Given the description of an element on the screen output the (x, y) to click on. 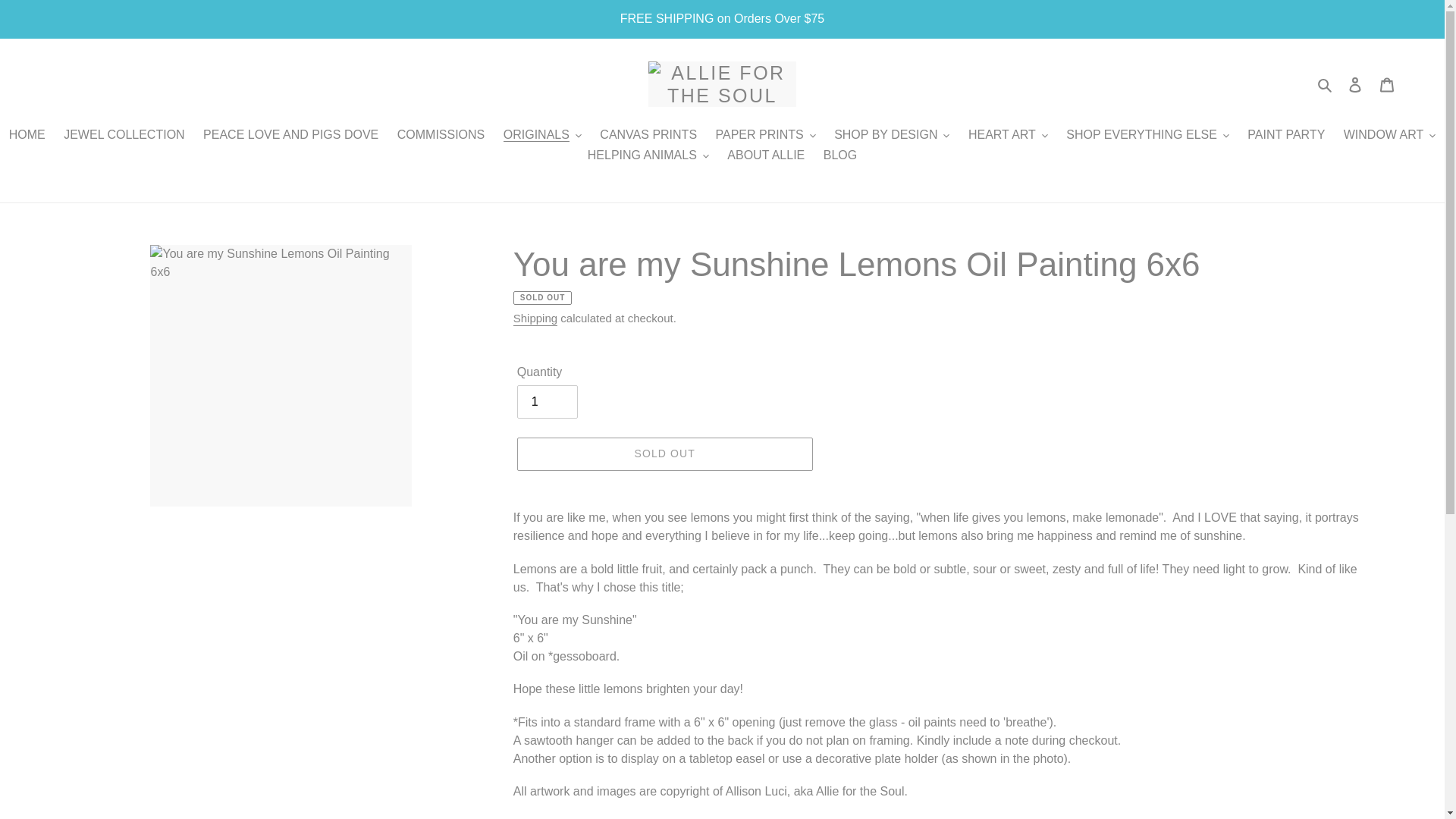
Log in (1355, 83)
Search (1326, 84)
Cart (1387, 83)
1 (547, 401)
